Given the description of an element on the screen output the (x, y) to click on. 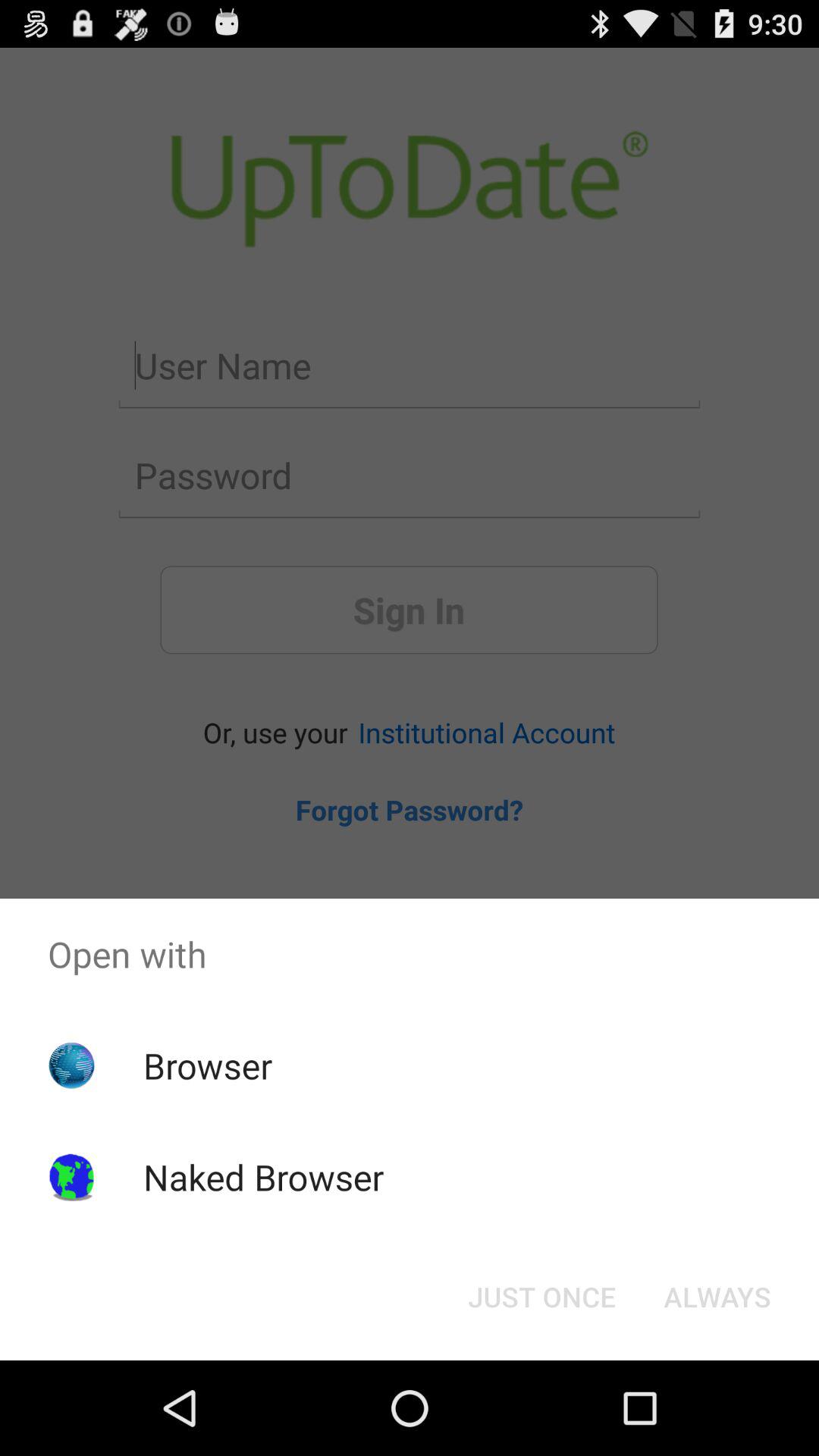
turn off item below the browser app (263, 1176)
